Given the description of an element on the screen output the (x, y) to click on. 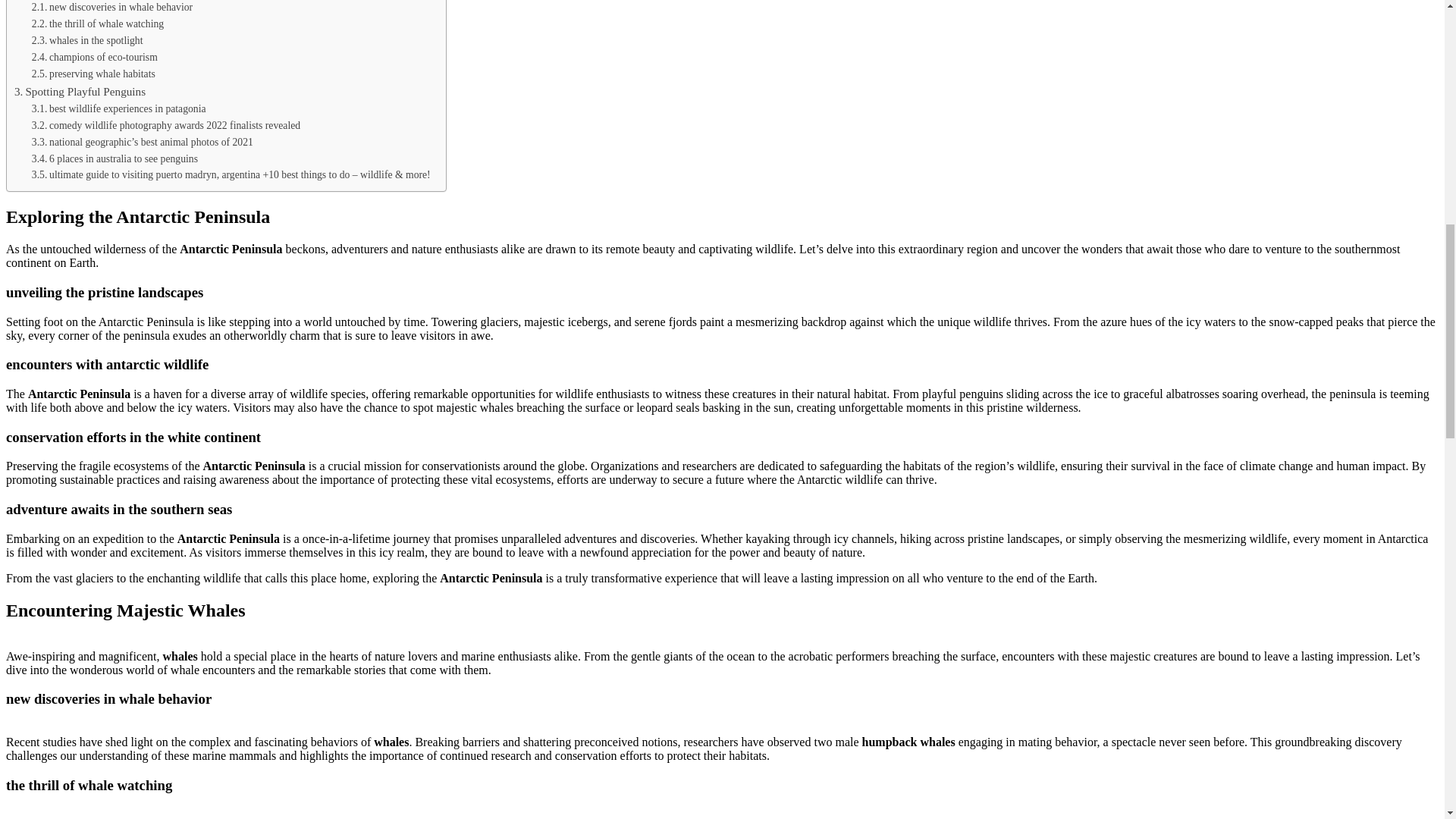
champions of eco-tourism (94, 57)
new discoveries in whale behavior (112, 7)
comedy wildlife photography awards 2022 finalists revealed (165, 125)
the thrill of whale watching (97, 23)
preserving whale habitats (93, 74)
best wildlife experiences in patagonia (119, 108)
the thrill of whale watching (97, 23)
Spotting Playful Penguins (79, 91)
new discoveries in whale behavior (112, 7)
whales in the spotlight (87, 40)
